Given the description of an element on the screen output the (x, y) to click on. 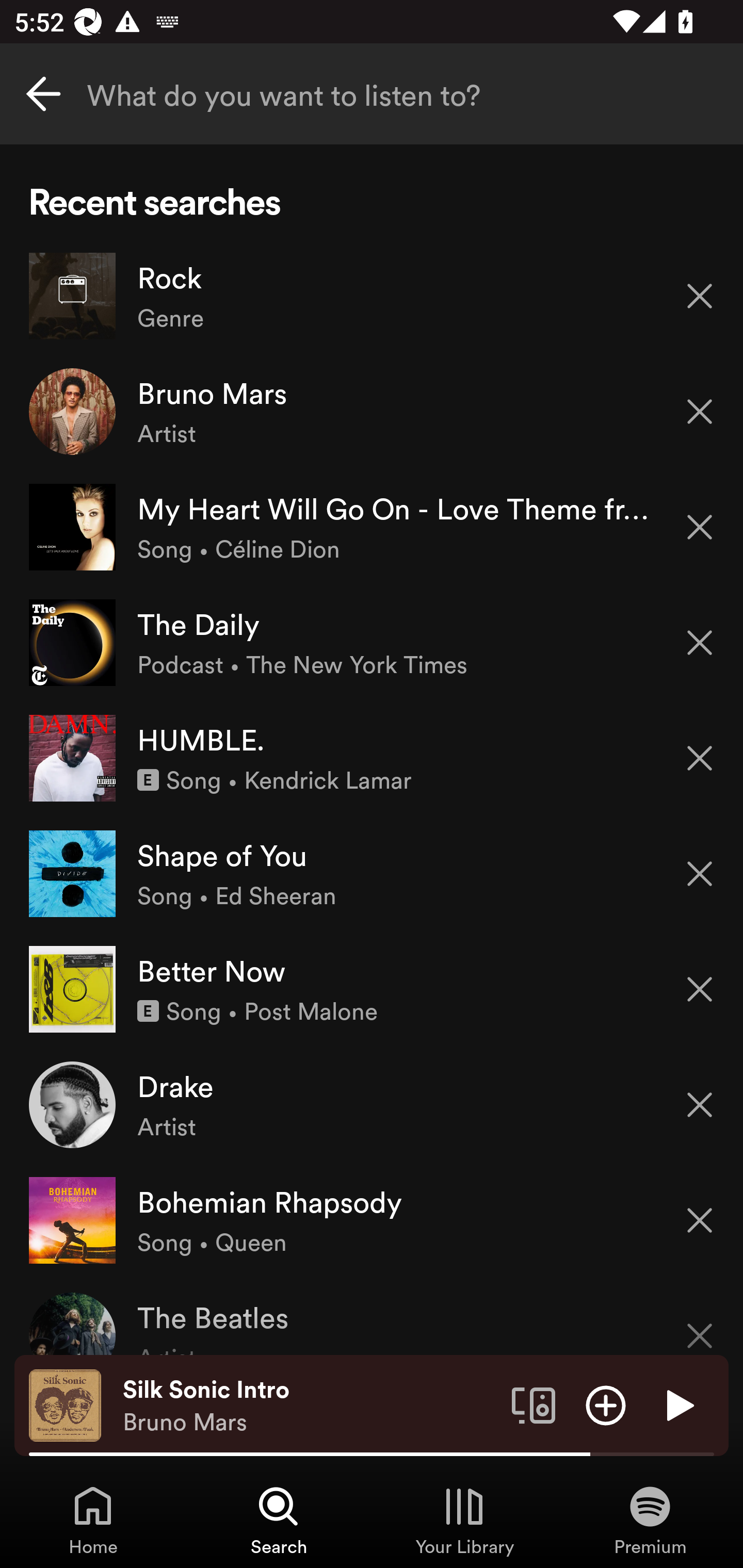
What do you want to listen to? (371, 93)
Cancel (43, 93)
Rock Genre Remove (371, 296)
Remove (699, 295)
Bruno Mars Artist Remove (371, 411)
Remove (699, 411)
Remove (699, 527)
The Daily Podcast • The New York Times Remove (371, 642)
Remove (699, 642)
HUMBLE. Explicit Song • Kendrick Lamar Remove (371, 757)
Remove (699, 758)
Shape of You Song • Ed Sheeran Remove (371, 873)
Remove (699, 874)
Better Now Explicit Song • Post Malone Remove (371, 989)
Remove (699, 989)
Drake Artist Remove (371, 1104)
Remove (699, 1104)
Bohemian Rhapsody Song • Queen Remove (371, 1219)
Remove (699, 1220)
The Beatles Artist Remove (371, 1315)
Remove (699, 1323)
Silk Sonic Intro Bruno Mars (309, 1405)
The cover art of the currently playing track (64, 1404)
Connect to a device. Opens the devices menu (533, 1404)
Add item (605, 1404)
Play (677, 1404)
Home, Tab 1 of 4 Home Home (92, 1519)
Search, Tab 2 of 4 Search Search (278, 1519)
Your Library, Tab 3 of 4 Your Library Your Library (464, 1519)
Premium, Tab 4 of 4 Premium Premium (650, 1519)
